Given the description of an element on the screen output the (x, y) to click on. 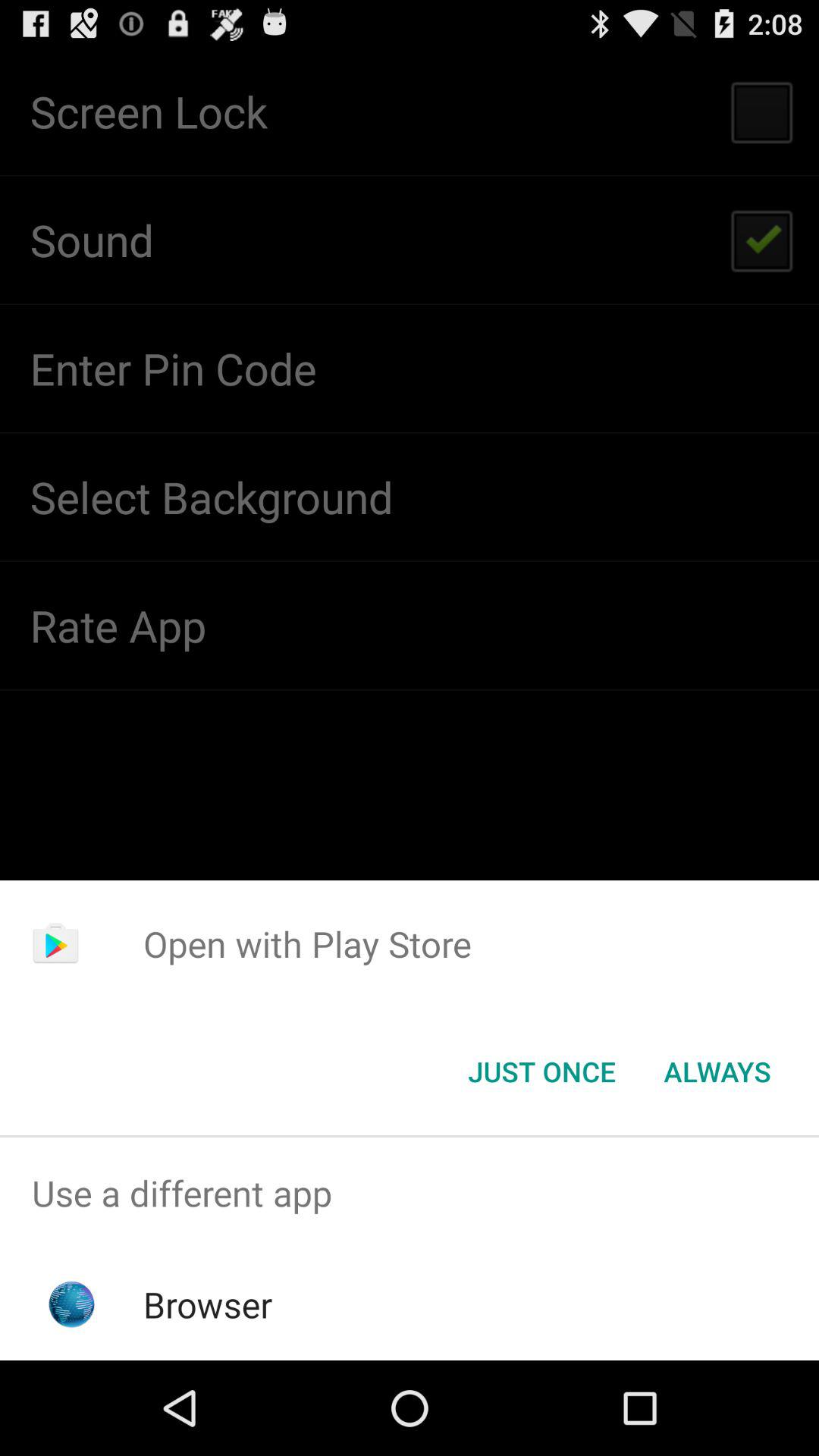
flip until the use a different icon (409, 1192)
